Given the description of an element on the screen output the (x, y) to click on. 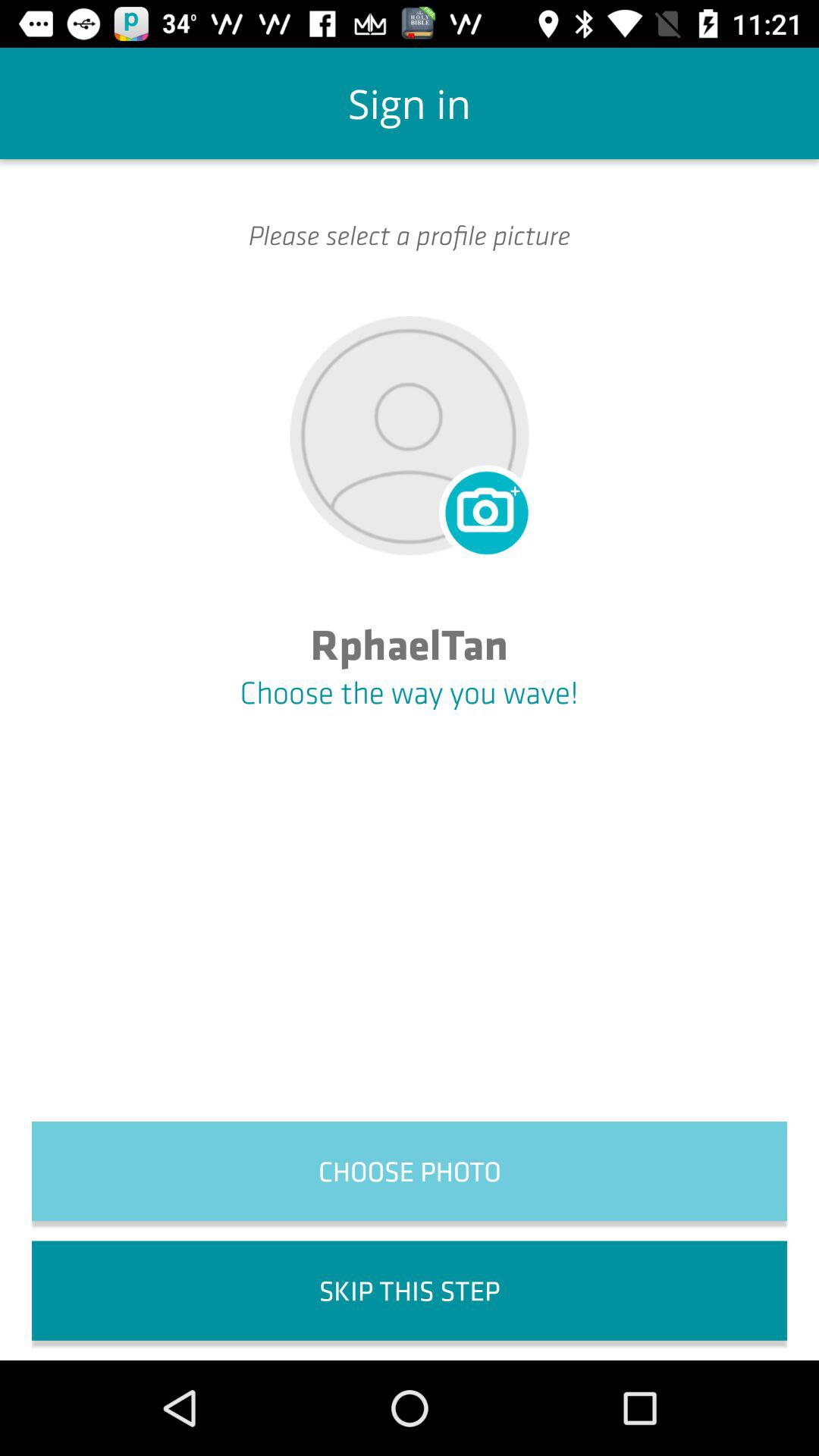
click choose photo item (409, 1171)
